Given the description of an element on the screen output the (x, y) to click on. 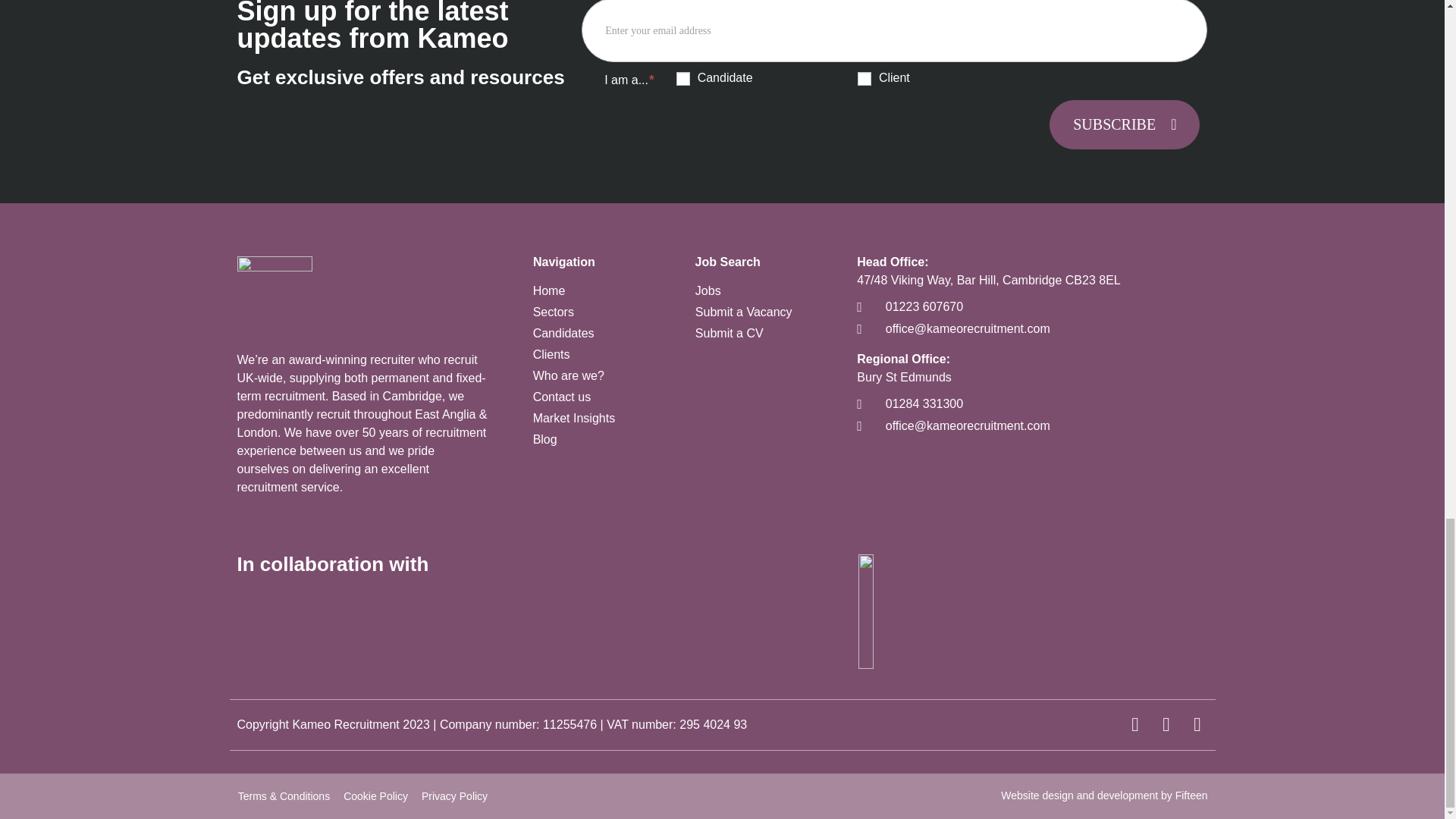
Candidate (683, 78)
Client (863, 78)
website design and development by Fifteen (1079, 795)
Fifteen (1191, 795)
